Given the description of an element on the screen output the (x, y) to click on. 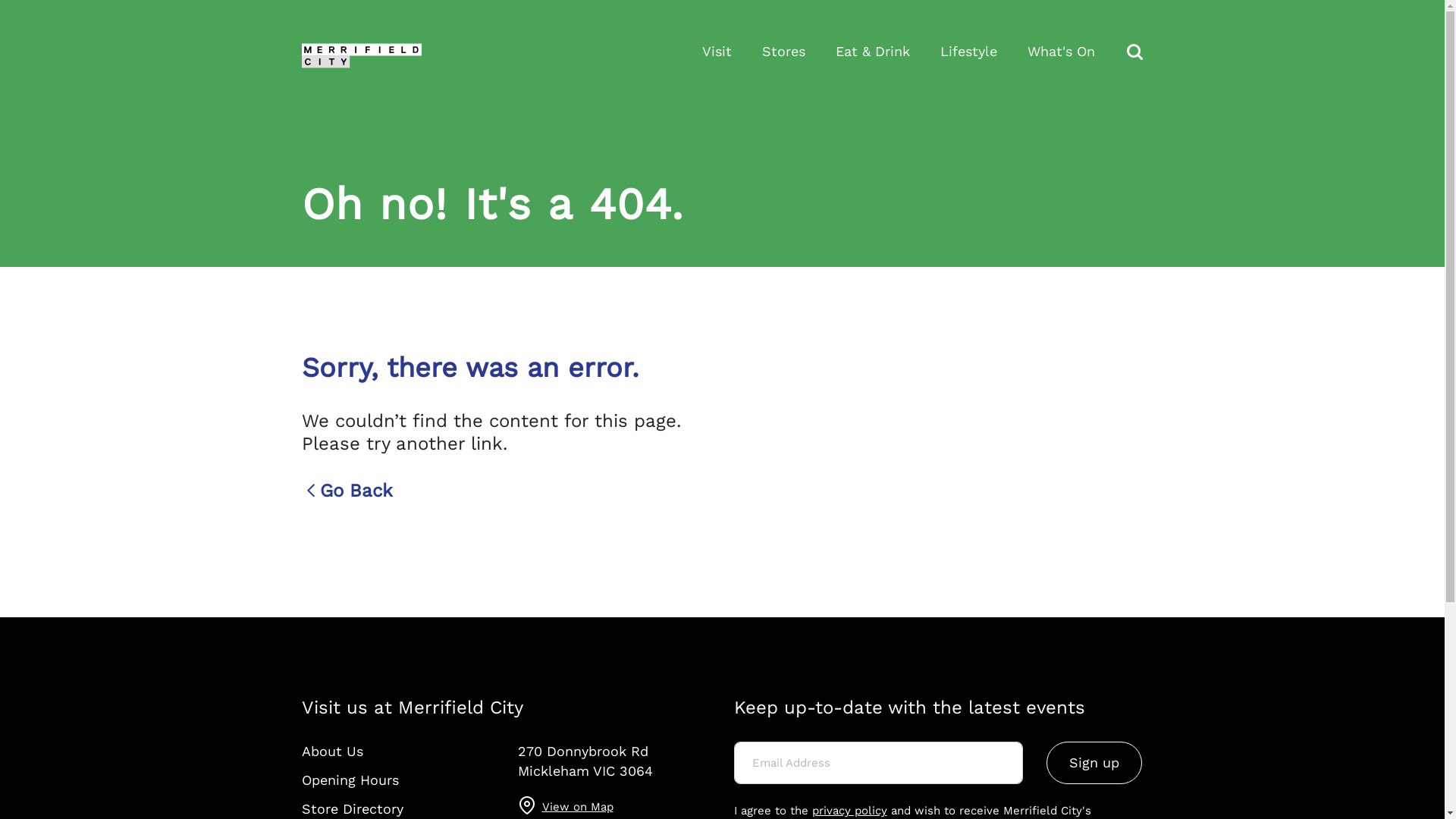
Eat & Drink Element type: text (872, 51)
About Us Element type: text (332, 751)
Stores Element type: text (782, 51)
Opening Hours Element type: text (349, 779)
Store Directory Element type: text (352, 808)
View on Map Element type: text (576, 805)
Lifestyle Element type: text (968, 51)
What's On Element type: text (1060, 51)
Visit Element type: text (716, 51)
Sign up Element type: text (1094, 762)
privacy policy Element type: text (848, 810)
